Given the description of an element on the screen output the (x, y) to click on. 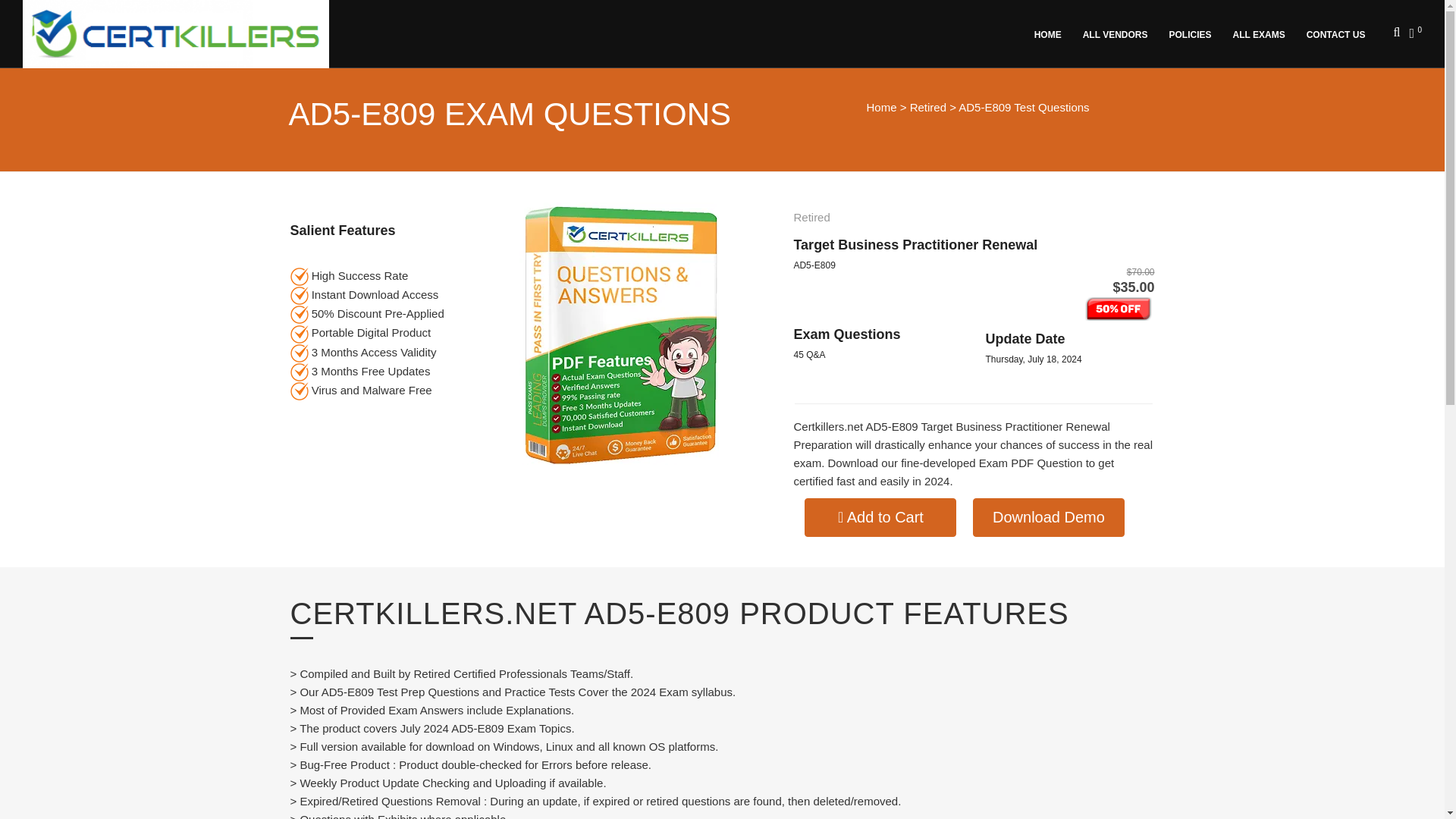
ALL VENDORS (1117, 33)
Update Date (1024, 338)
Retired (928, 106)
Home (881, 106)
ALL EXAMS (1261, 33)
POLICIES (1192, 33)
Target Business Practitioner Renewal (914, 244)
Download Demo (1048, 517)
CONTACT US (1337, 33)
Add to Cart (880, 517)
Exam Questions (846, 334)
